Given the description of an element on the screen output the (x, y) to click on. 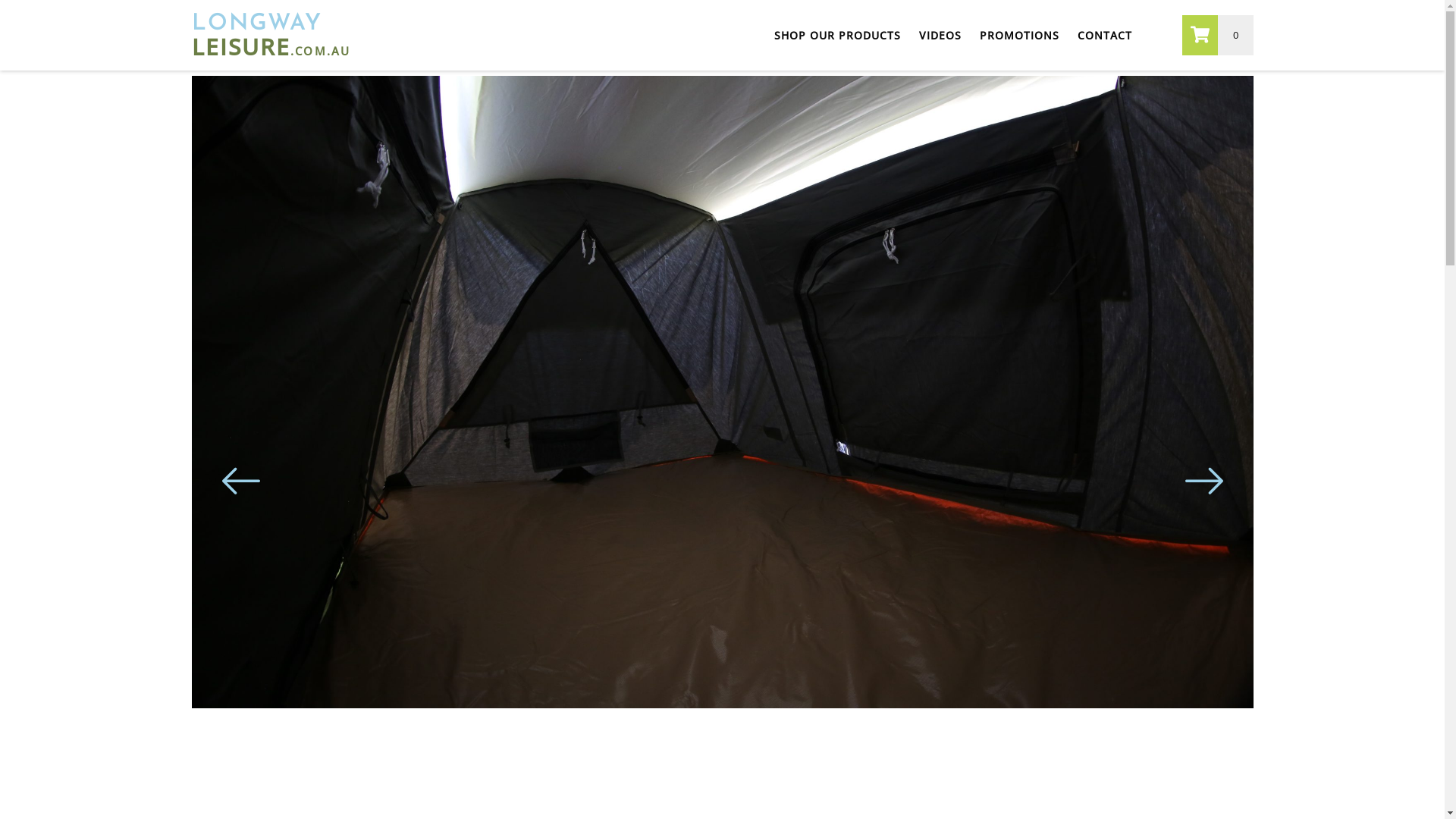
  0 Element type: text (1217, 35)
PROMOTIONS Element type: text (1019, 50)
CONTACT Element type: text (1104, 50)
SHOP OUR PRODUCTS Element type: text (837, 50)
VIDEOS Element type: text (940, 50)
LONGWAY
LEISURE.COM.AU Element type: text (270, 36)
